Given the description of an element on the screen output the (x, y) to click on. 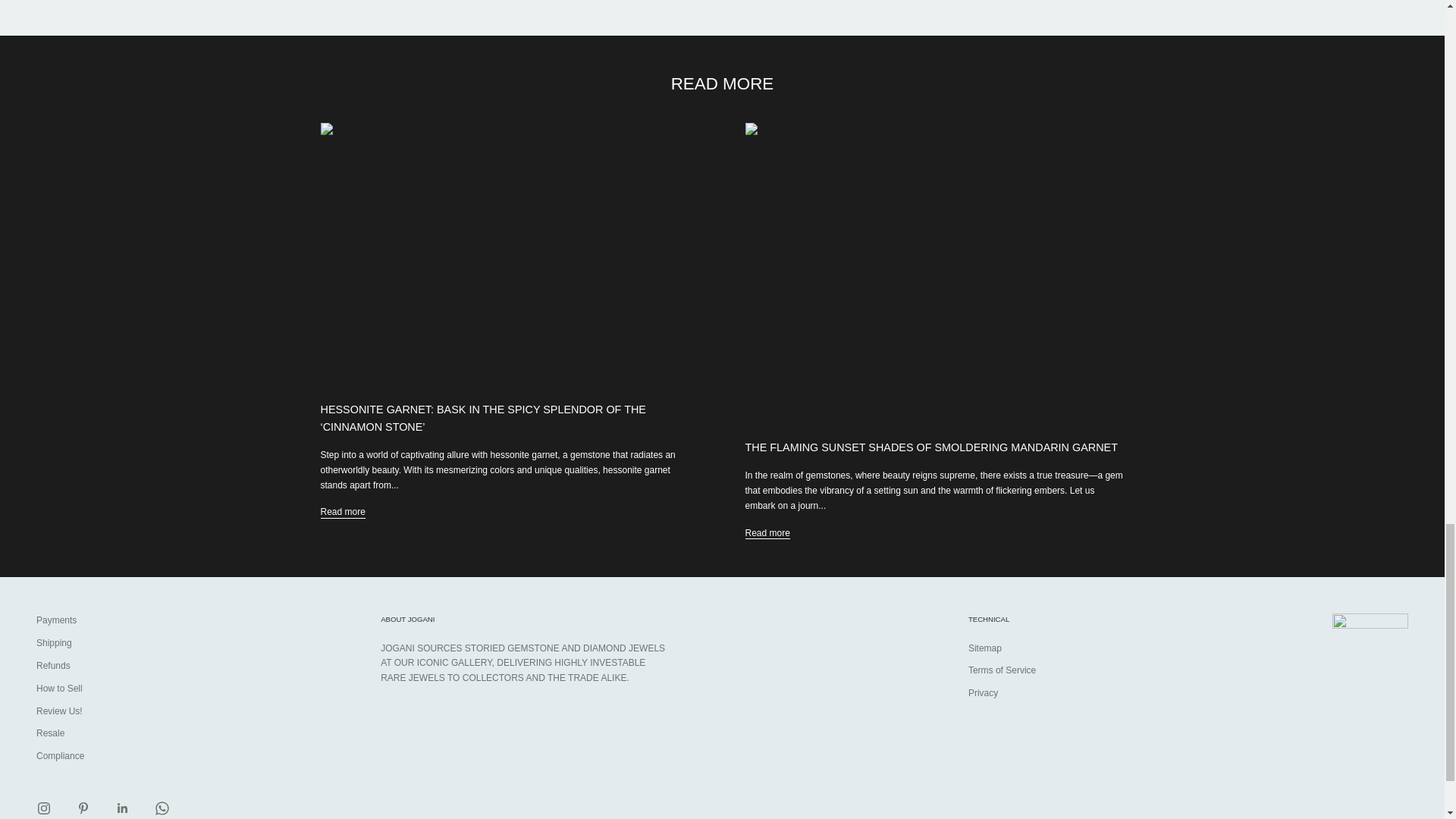
Review Us! (59, 710)
Sitemap (984, 647)
Shipping (53, 643)
Read more (766, 533)
Read more (342, 512)
Refunds (52, 665)
Terms of Service (1001, 670)
THE FLAMING SUNSET SHADES OF SMOLDERING MANDARIN GARNET (930, 447)
Compliance (60, 756)
How to Sell (59, 688)
Payments (56, 620)
Resale (50, 733)
Privacy (982, 692)
